Given the description of an element on the screen output the (x, y) to click on. 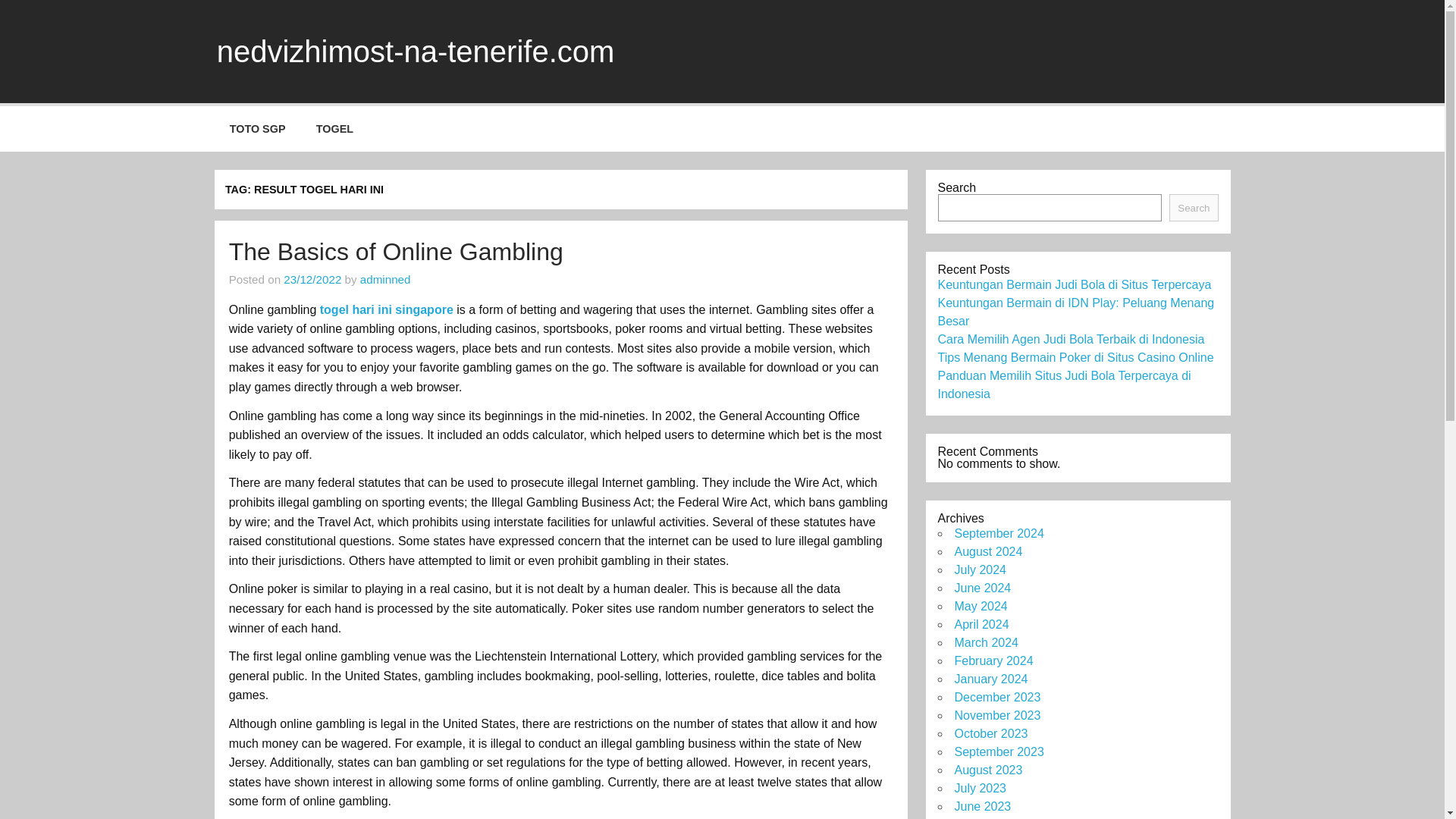
July 2024 (979, 569)
March 2024 (985, 642)
togel hari ini singapore (386, 309)
May 2024 (980, 605)
The Basics of Online Gambling (395, 251)
November 2023 (997, 715)
June 2023 (981, 806)
August 2024 (987, 551)
adminned (384, 278)
October 2023 (990, 733)
